Given the description of an element on the screen output the (x, y) to click on. 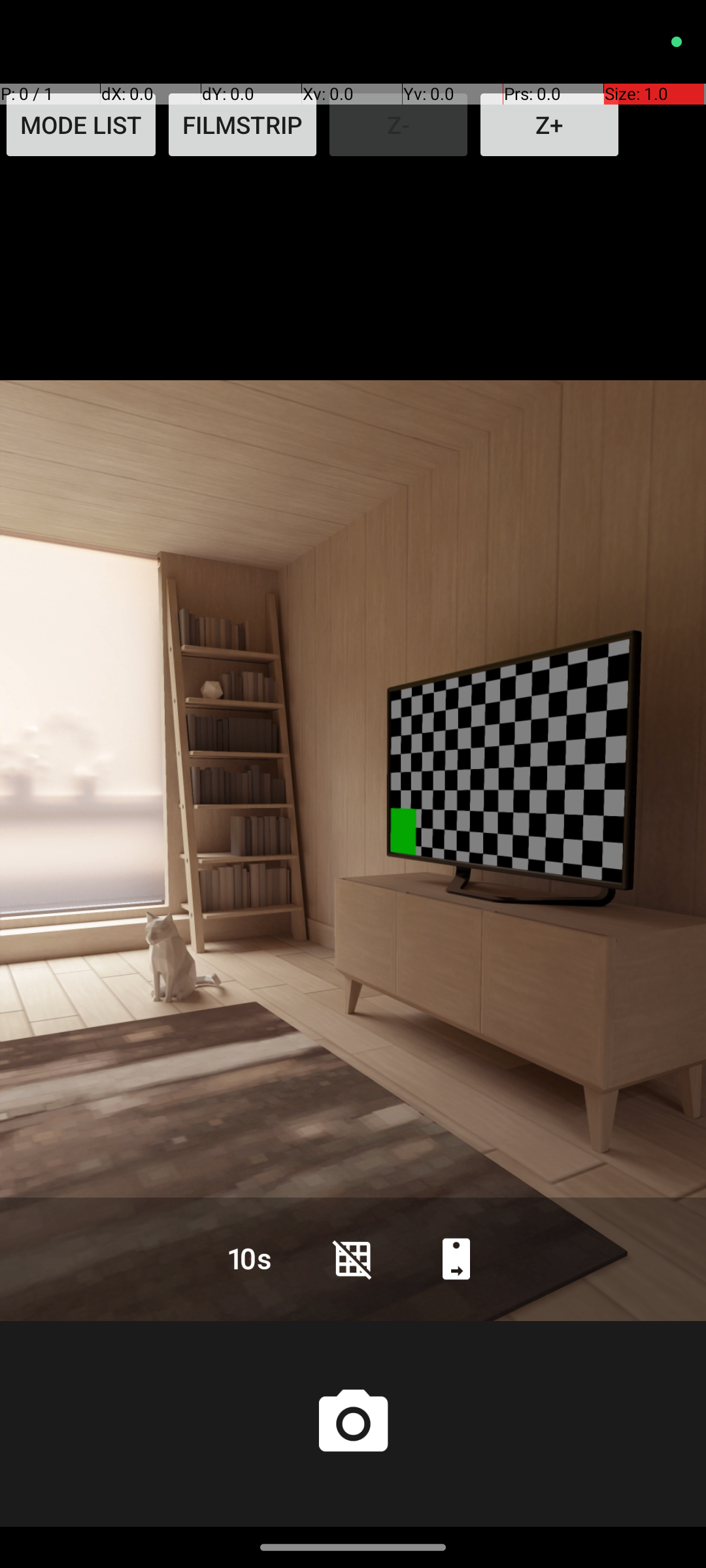
Countdown timer duration is set to 10 seconds Element type: android.widget.ImageButton (249, 1258)
Grid lines off Element type: android.widget.ImageButton (352, 1258)
